Given the description of an element on the screen output the (x, y) to click on. 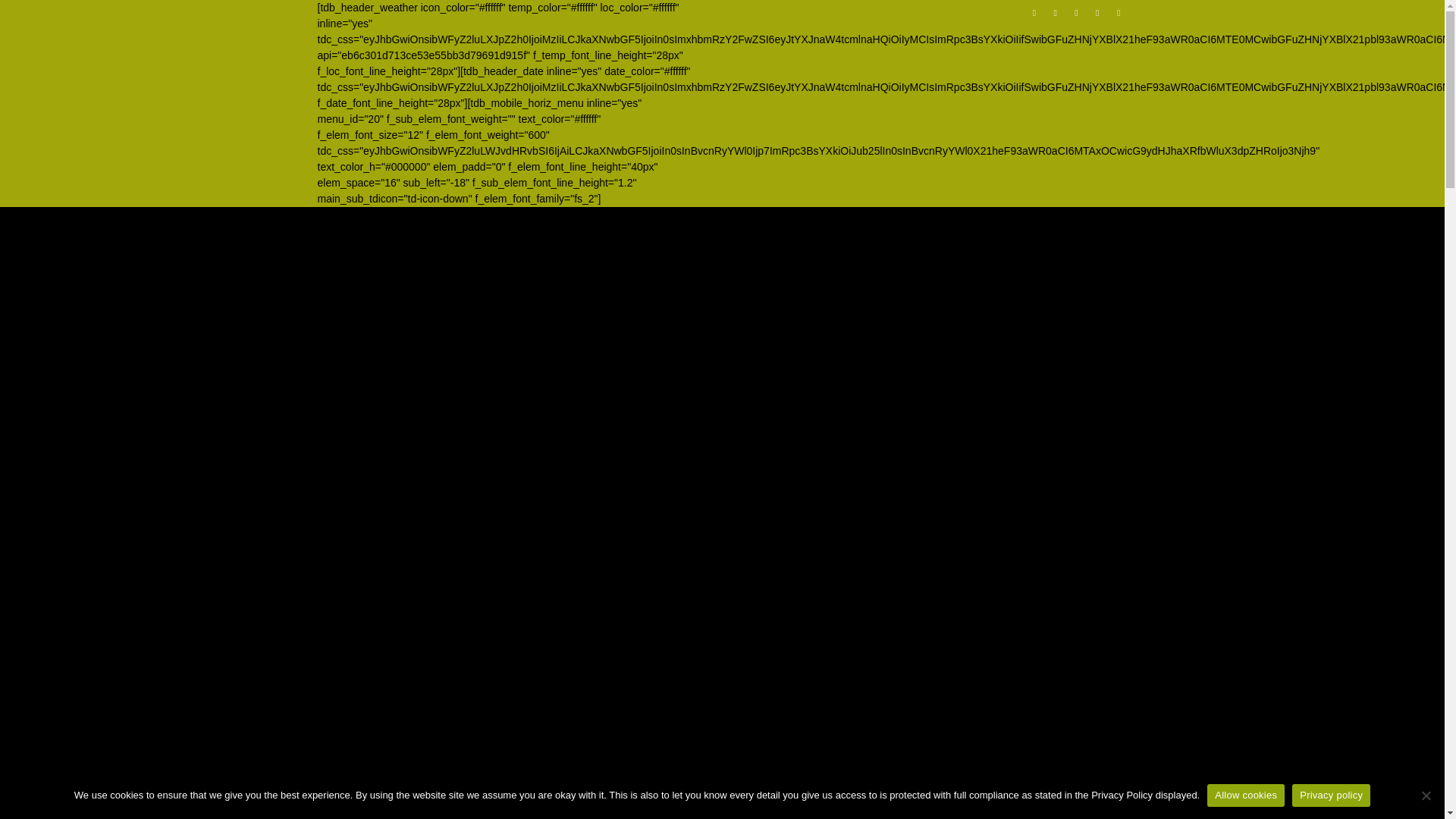
Instagram (1055, 16)
TikTok (1075, 16)
Facebook (1034, 16)
Youtube (1117, 16)
Twitter (1097, 16)
